Given the description of an element on the screen output the (x, y) to click on. 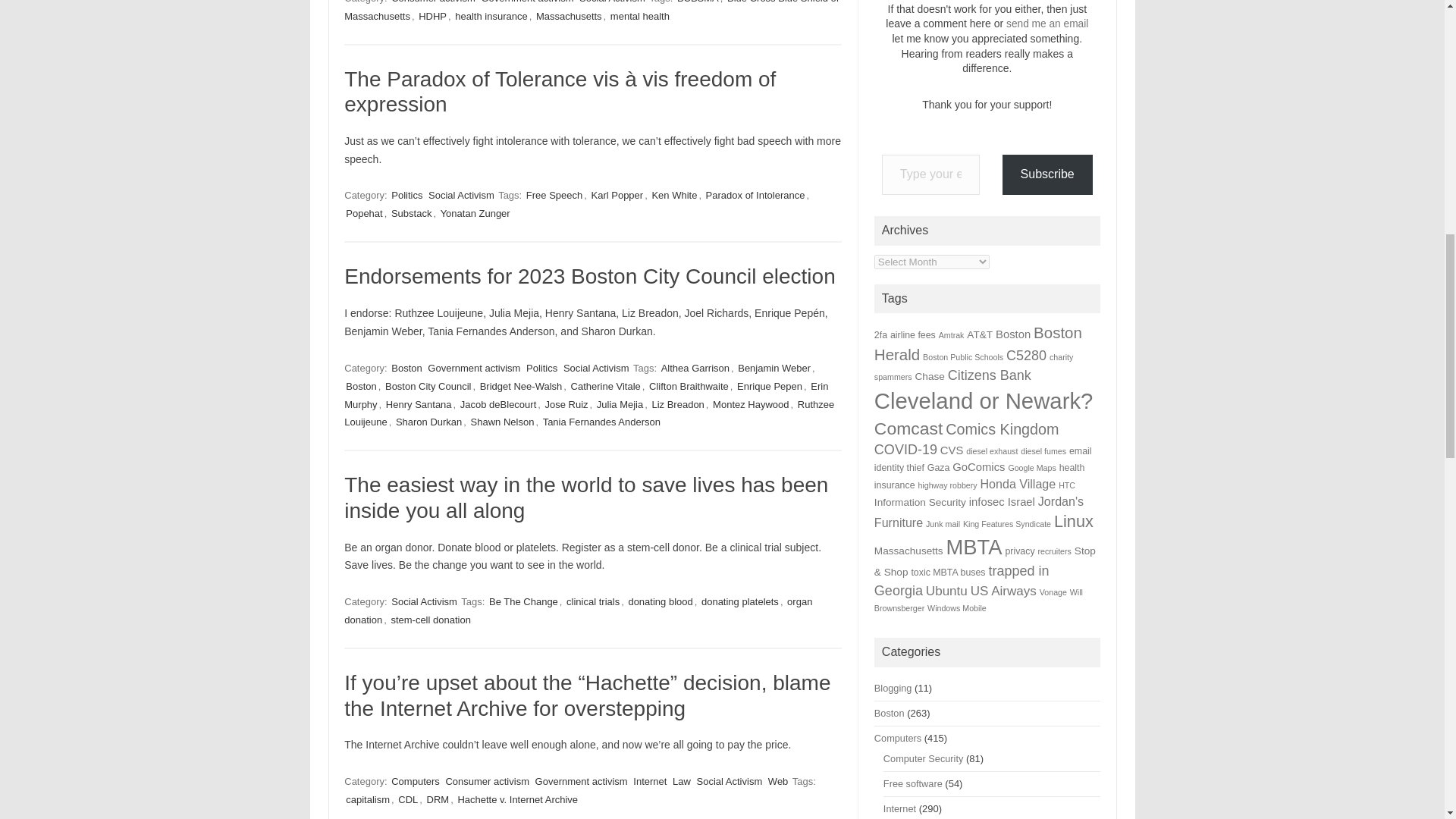
Social Activism (461, 195)
Please fill in this field. (930, 174)
Boston (360, 386)
Boston City Council (427, 386)
Social Activism (612, 2)
Althea Garrison (694, 368)
Yonatan Zunger (475, 213)
Social Activism (596, 368)
